Given the description of an element on the screen output the (x, y) to click on. 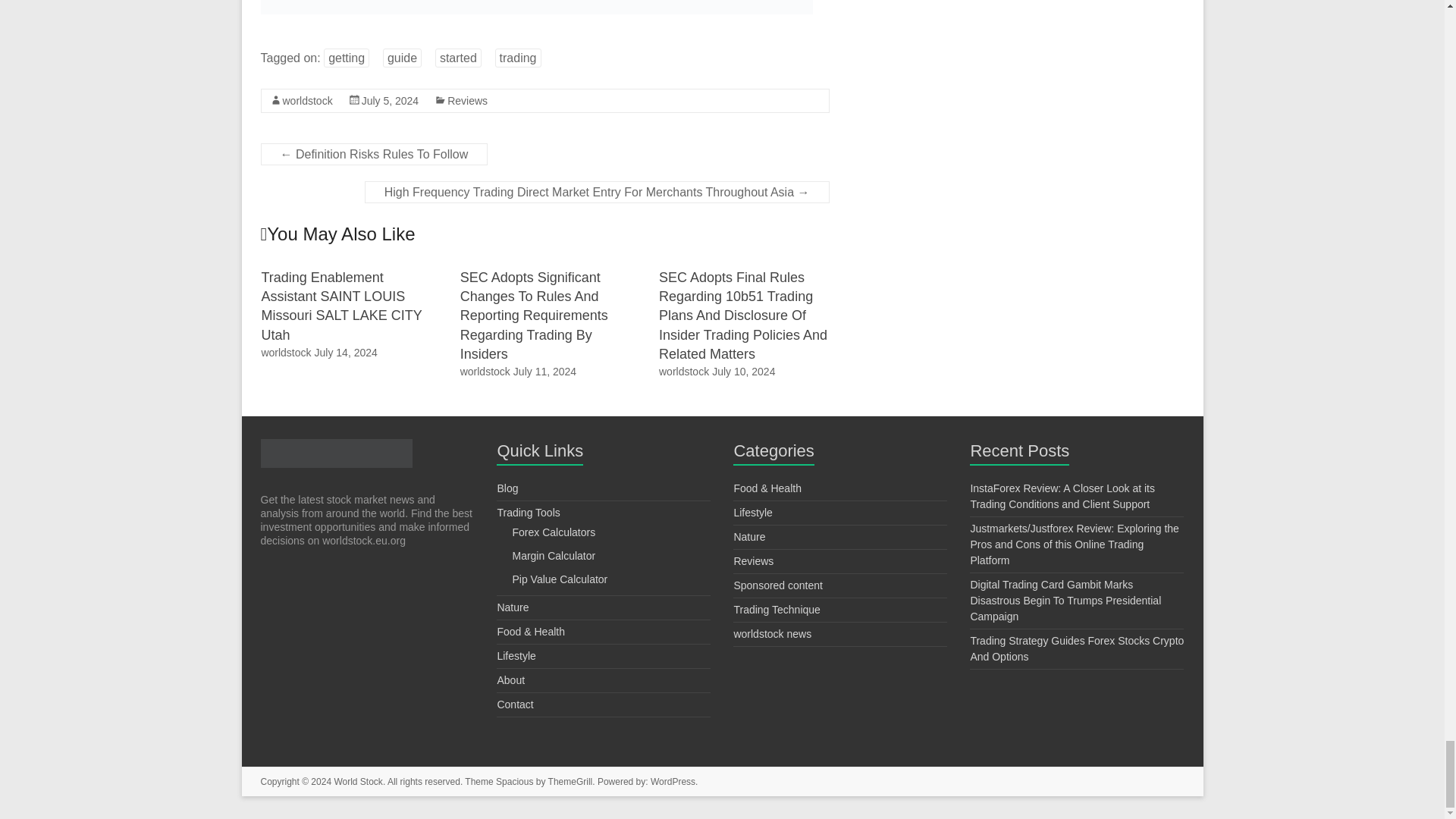
WordPress (672, 781)
worldstock (285, 352)
12:16 pm (345, 352)
guide (402, 57)
8:59 am (742, 371)
trading (518, 57)
Spacious (514, 781)
started (458, 57)
